Given the description of an element on the screen output the (x, y) to click on. 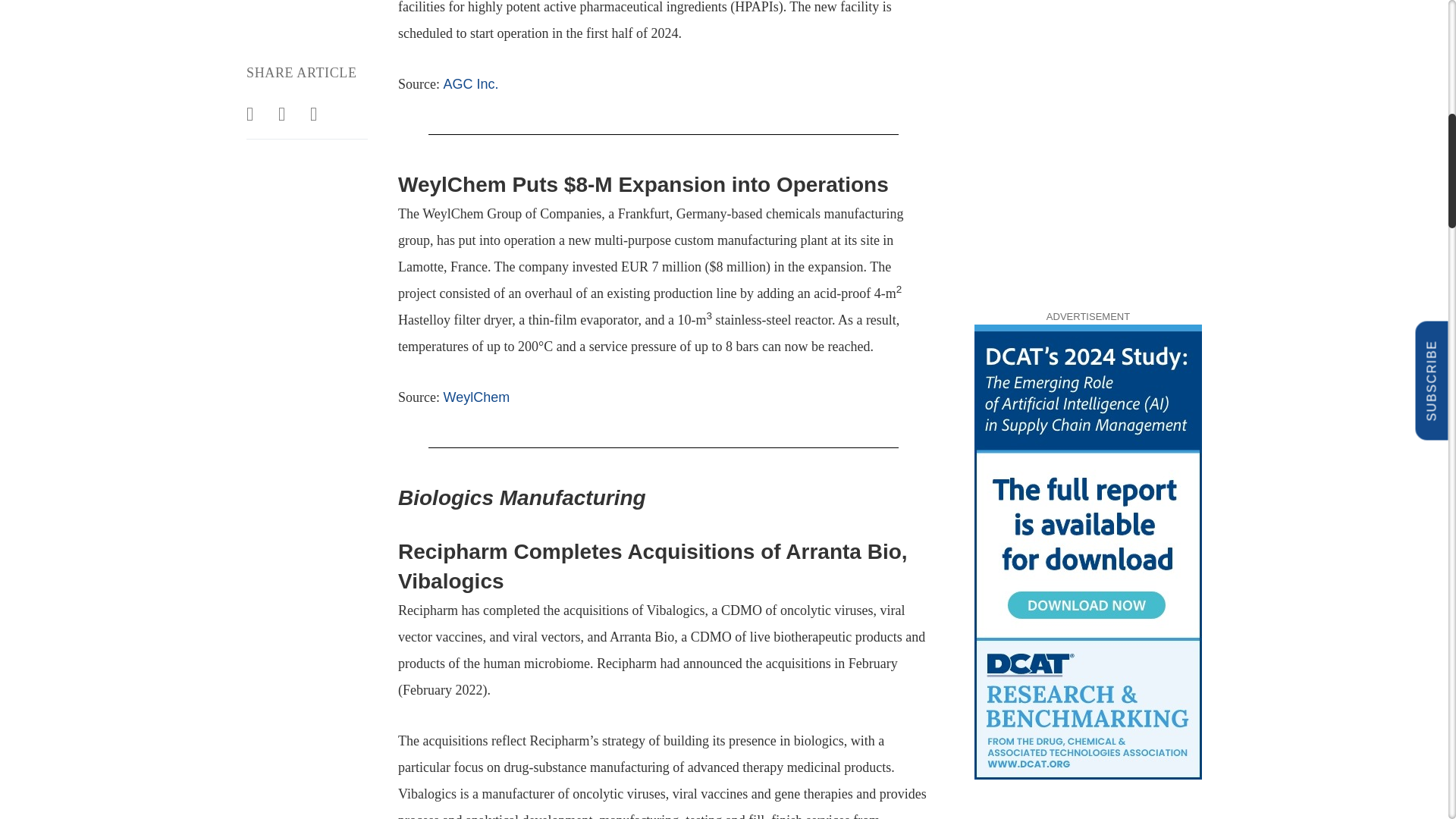
AGC Inc. (469, 83)
WeylChem (475, 396)
